Given the description of an element on the screen output the (x, y) to click on. 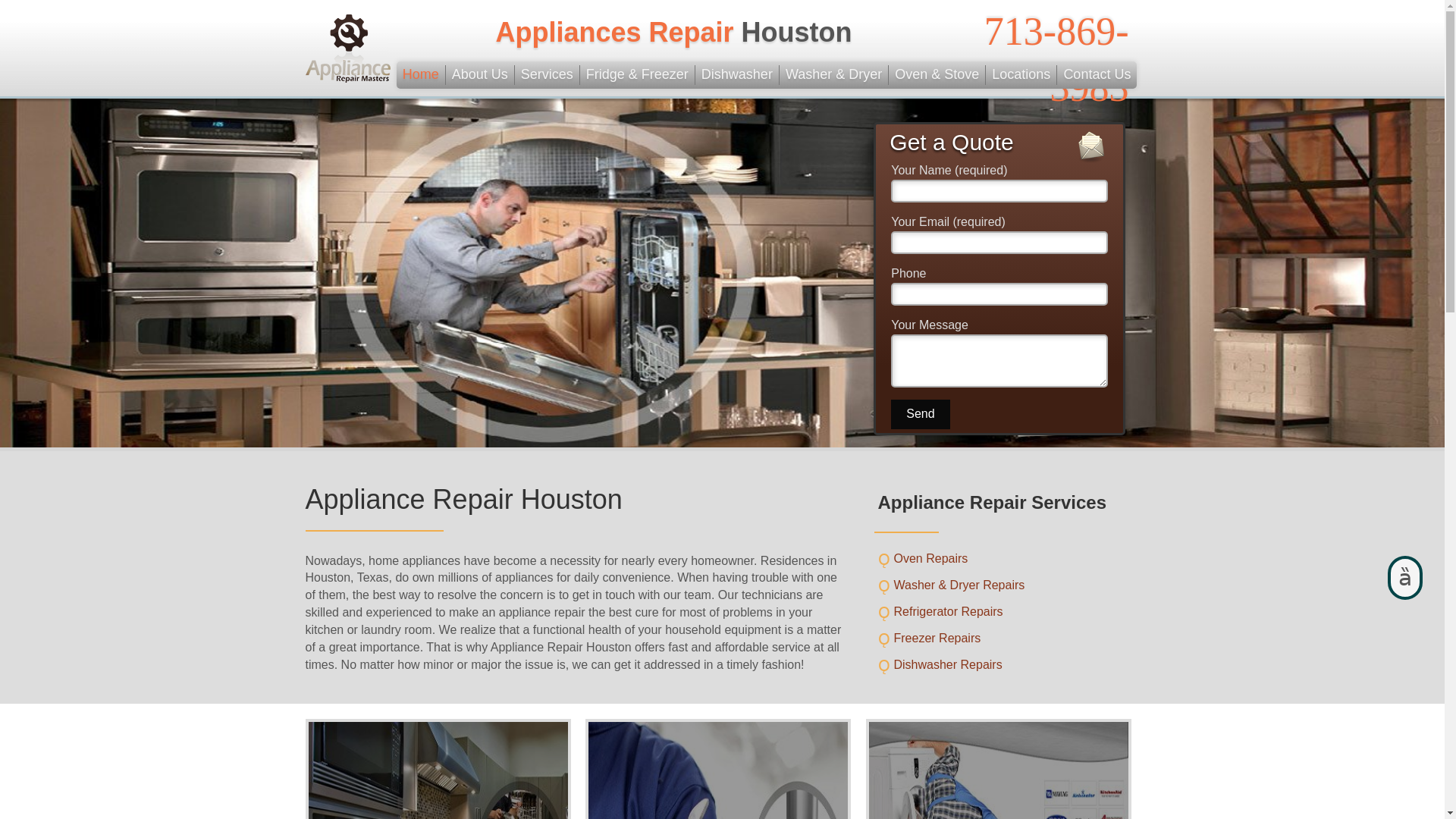
713-869-3983 (1056, 58)
Locations (1021, 75)
Home (420, 75)
Send (920, 414)
About Us (480, 75)
Dishwasher (736, 75)
Send (920, 414)
Services (547, 75)
Contact Us (1097, 75)
